Given the description of an element on the screen output the (x, y) to click on. 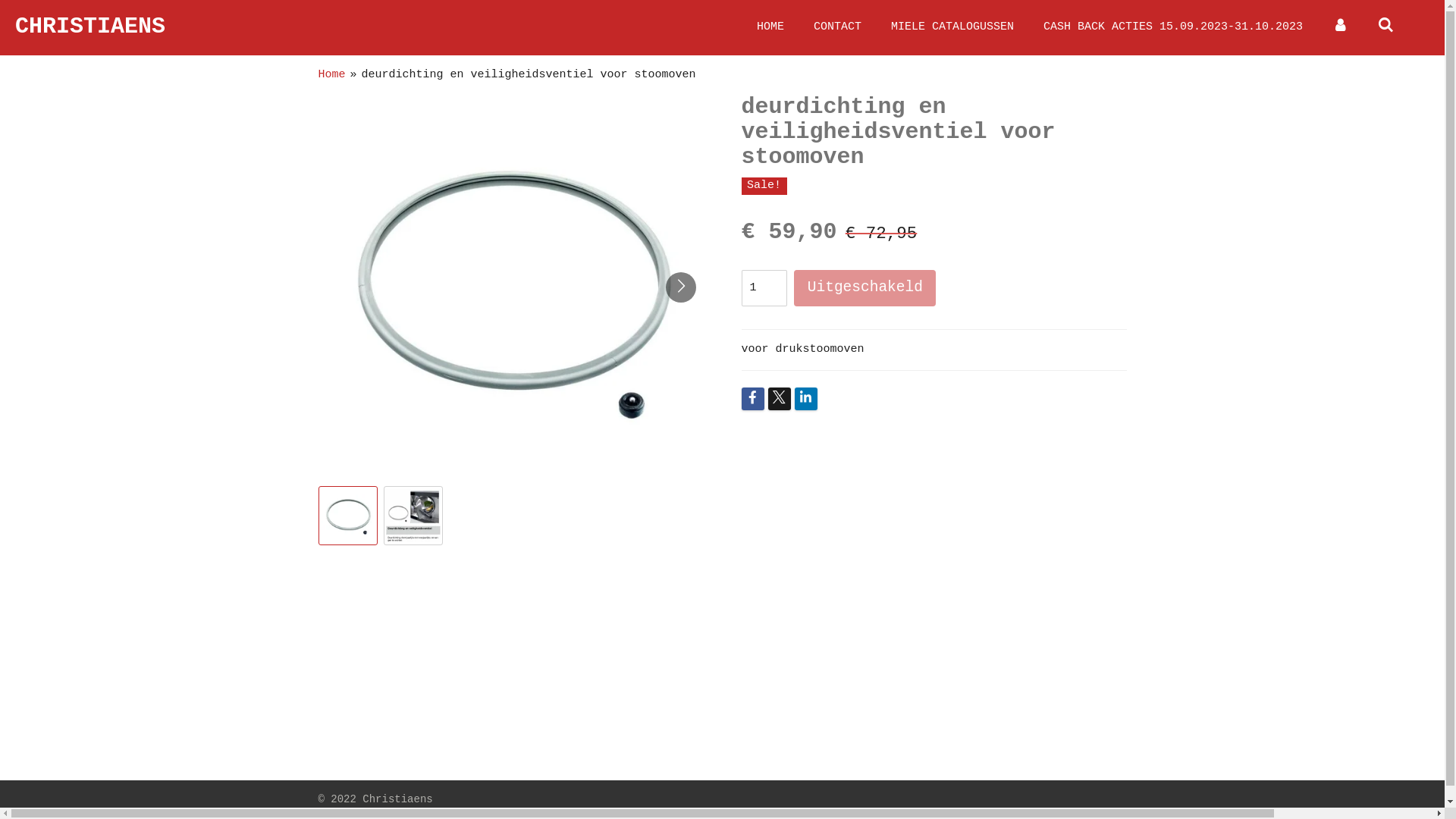
deurdichting en veiligheidsventiel voor stoomoven Element type: text (528, 74)
MIELE CATALOGUSSEN Element type: text (951, 27)
Uitgeschakeld Element type: text (864, 288)
Account Element type: hover (1340, 27)
Home Element type: text (331, 74)
Zoeken Element type: hover (1385, 27)
HOME Element type: text (770, 27)
CASH BACK ACTIES 15.09.2023-31.10.2023 Element type: text (1172, 27)
CHRISTIAENS Element type: text (90, 26)
CONTACT Element type: text (837, 27)
